Given the description of an element on the screen output the (x, y) to click on. 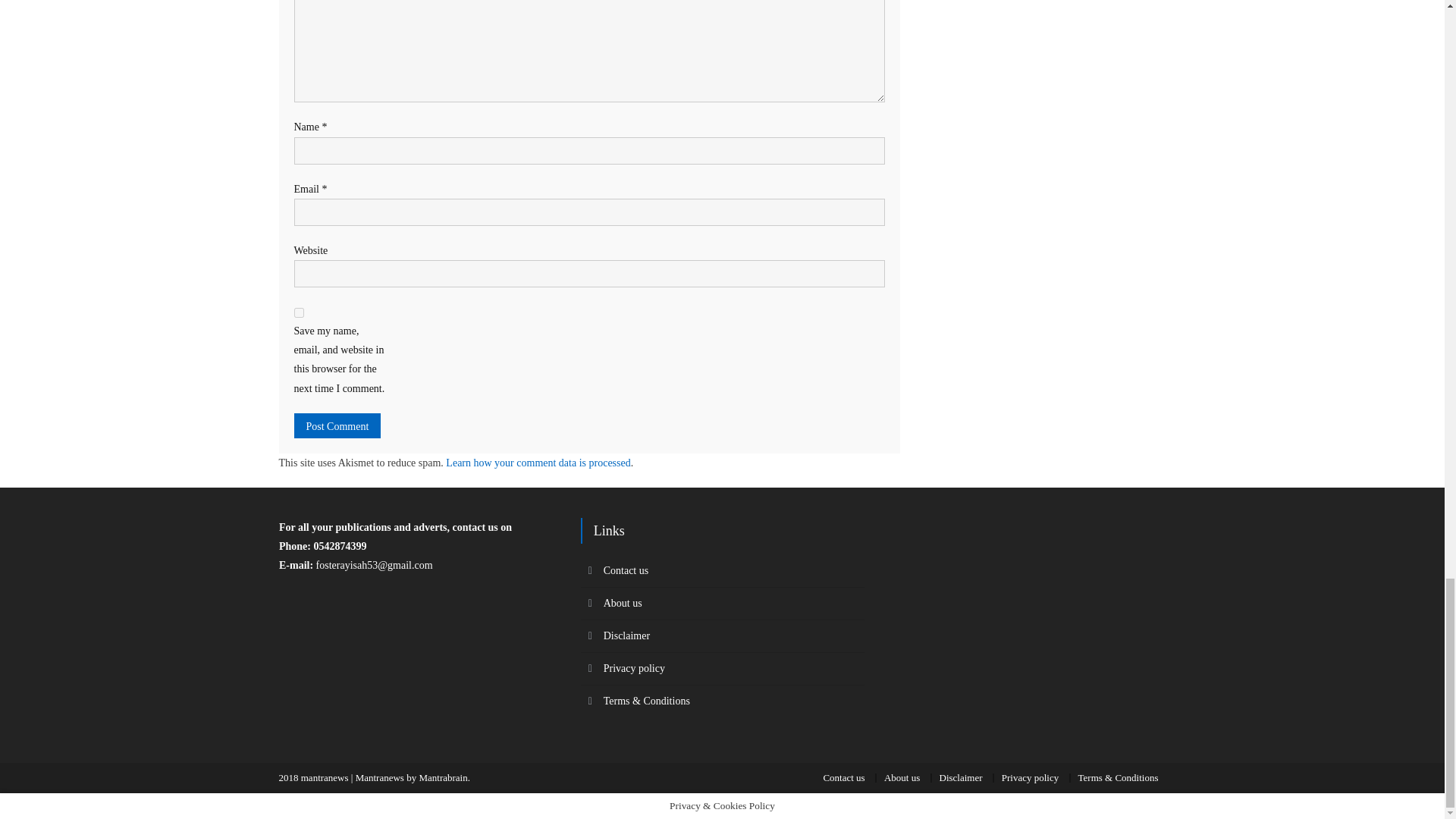
yes (299, 312)
Post Comment (337, 425)
